Given the description of an element on the screen output the (x, y) to click on. 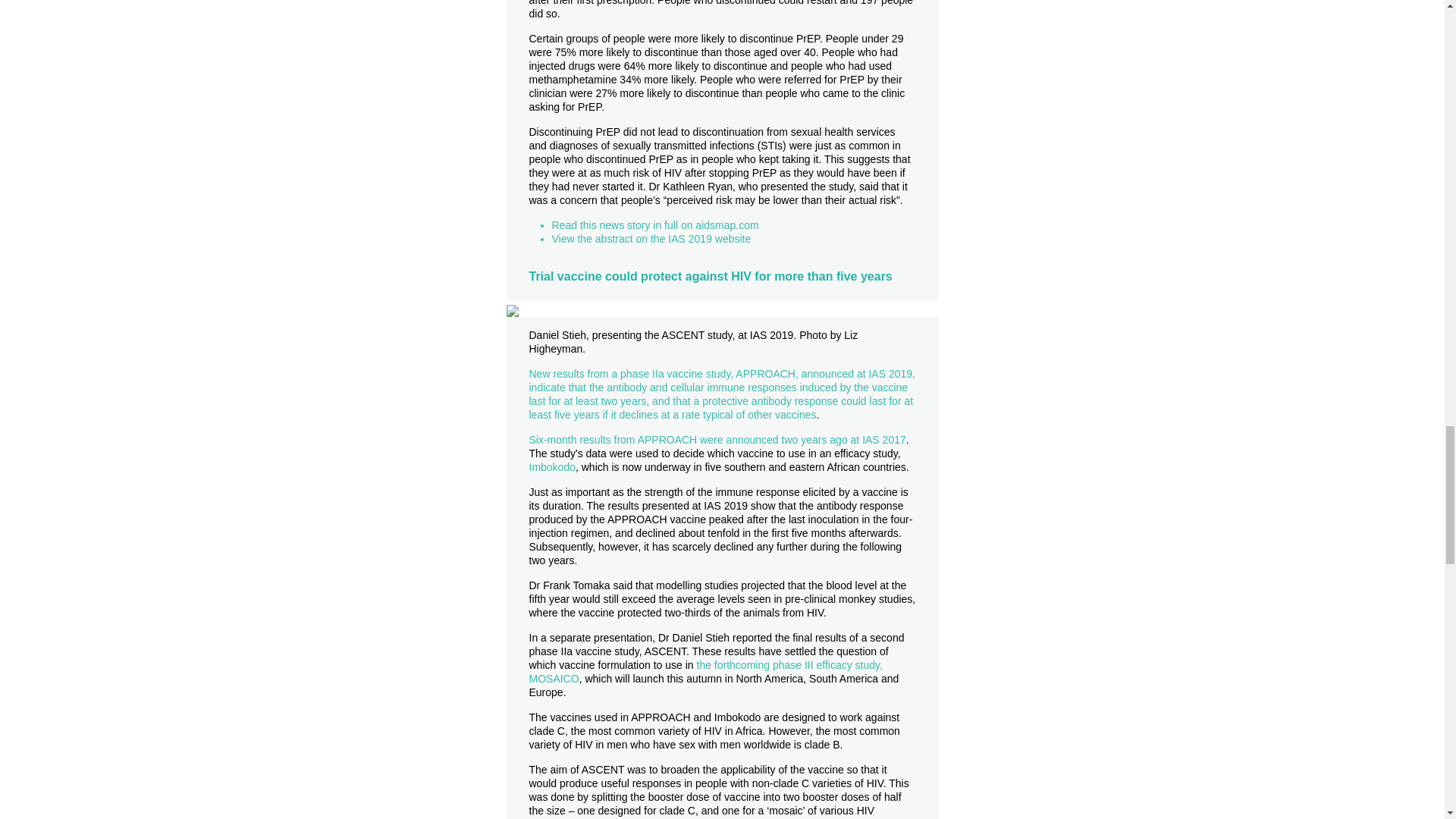
View the abstract on the IAS 2019 website (651, 238)
Read this news story in full on aidsmap.com (654, 224)
the forthcoming phase III efficacy study, MOSAICO (705, 671)
Imbokodo (552, 467)
